Given the description of an element on the screen output the (x, y) to click on. 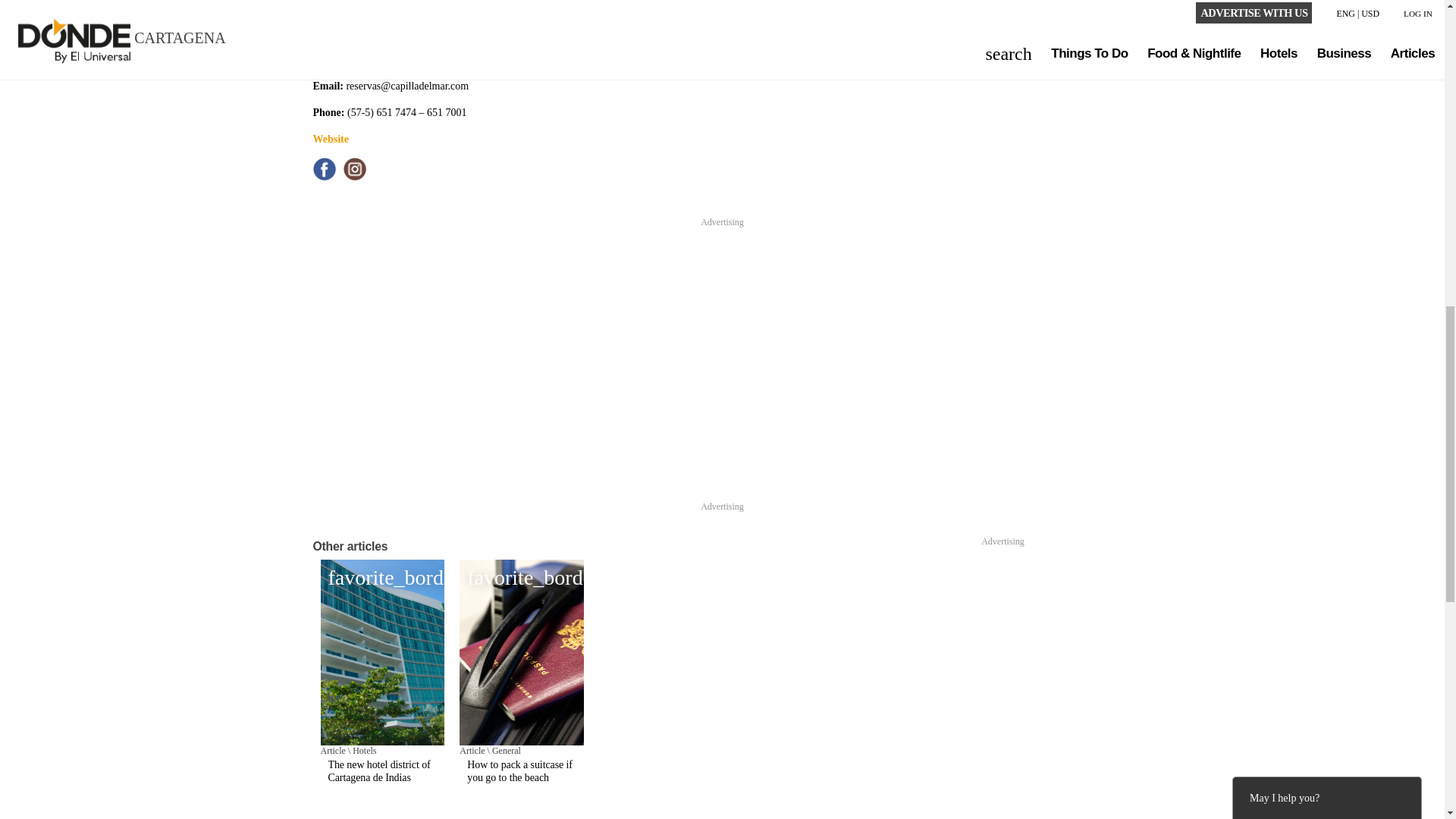
The new hotel district of Cartagena de Indias (382, 771)
Website (330, 138)
How to pack a suitcase if you go to the beach (521, 771)
